Given the description of an element on the screen output the (x, y) to click on. 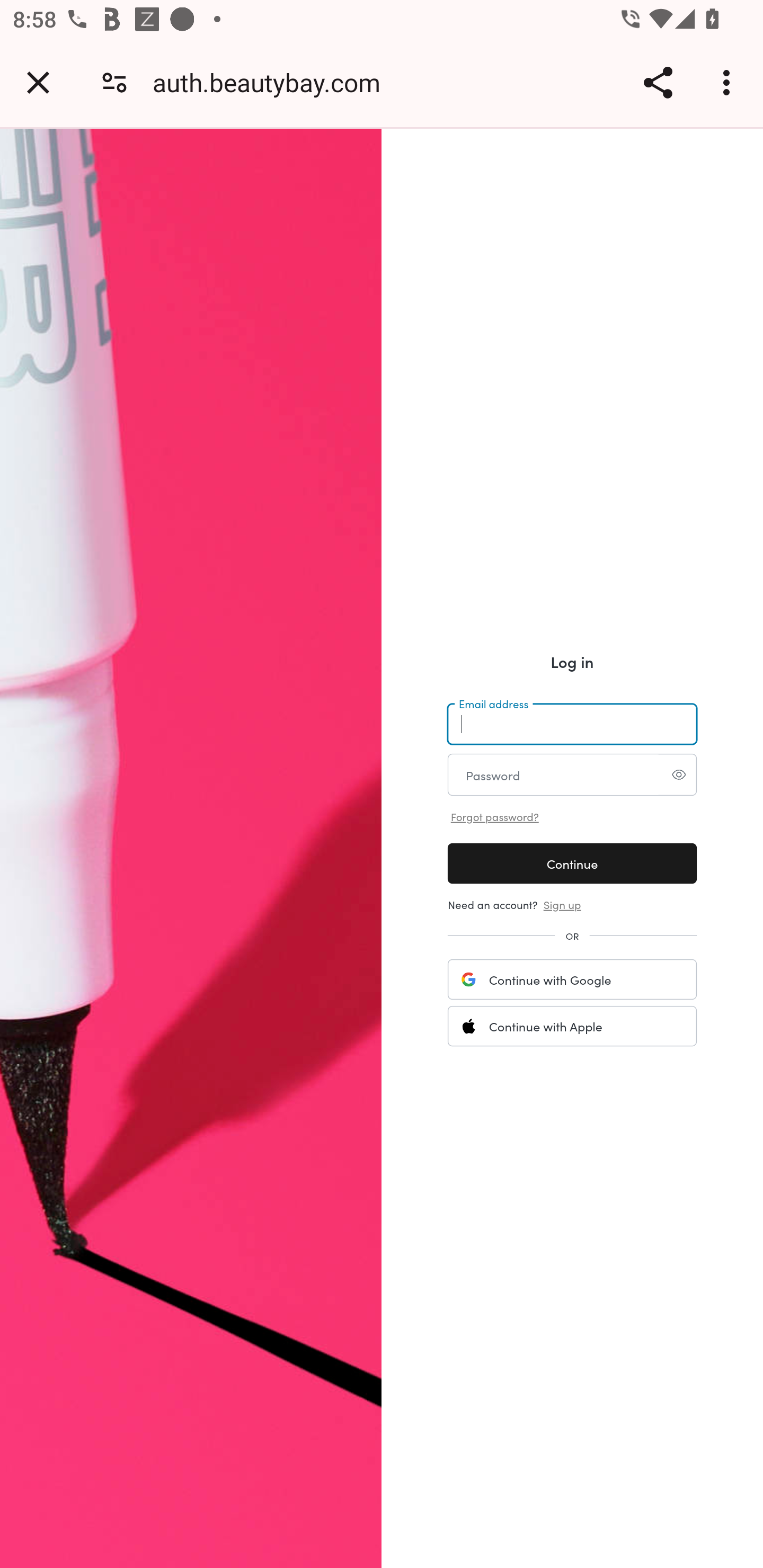
Close tab (38, 82)
Share (657, 82)
Customize and control Google Chrome (729, 82)
Connection is secure (114, 81)
auth.beautybay.com (272, 81)
Show password (678, 773)
Forgot password? (494, 815)
Continue (571, 863)
Sign up (562, 903)
Continue with Google (571, 979)
Continue with Apple (571, 1025)
